Given the description of an element on the screen output the (x, y) to click on. 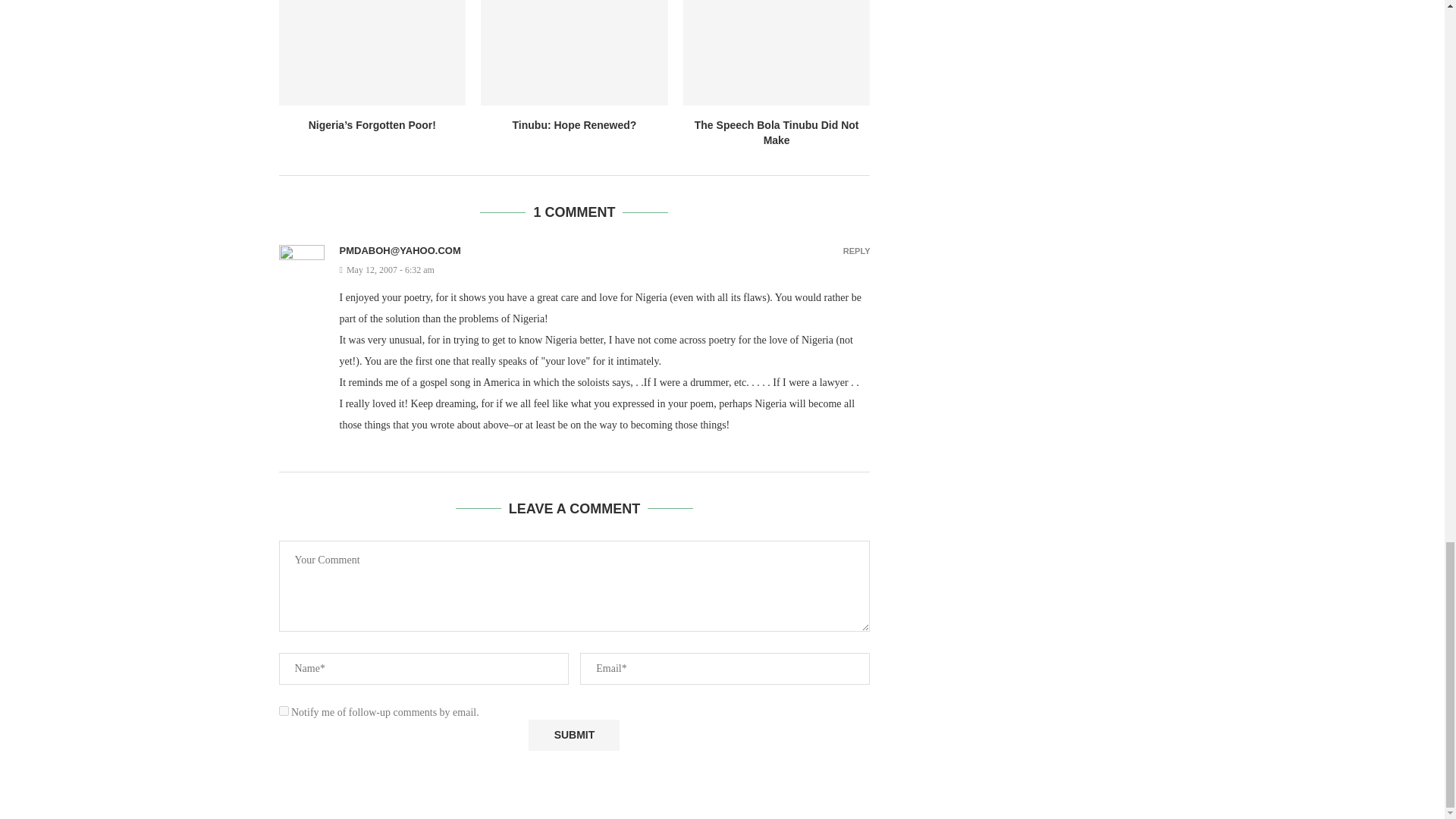
The Speech Bola Tinubu Did Not Make (776, 52)
The Speech Bola Tinubu Did Not Make (776, 132)
Tinubu: Hope Renewed? (574, 52)
Submit (574, 735)
subscribe (283, 710)
Tinubu: Hope Renewed? (574, 124)
